Given the description of an element on the screen output the (x, y) to click on. 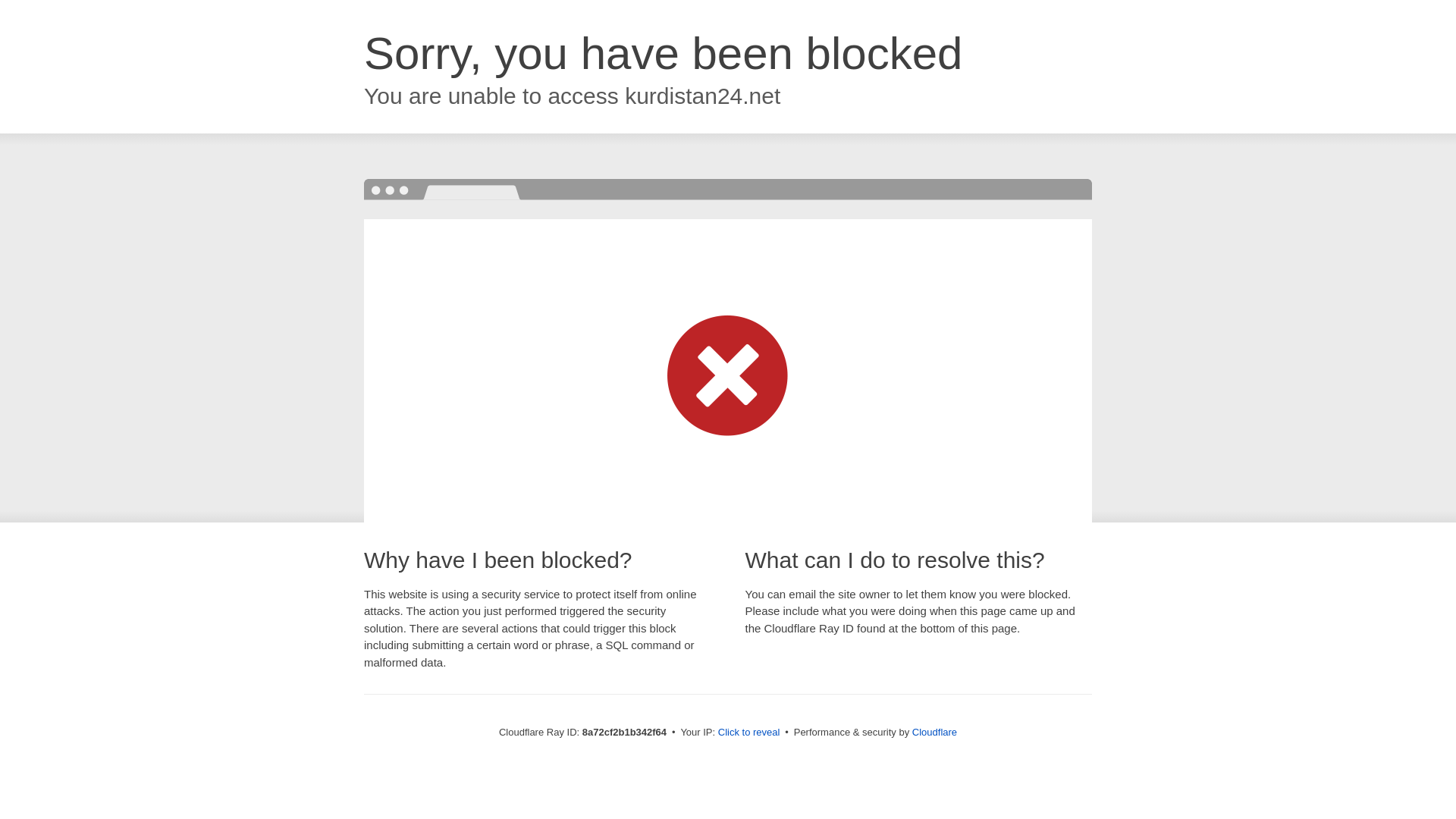
Cloudflare (934, 731)
Click to reveal (748, 732)
